Given the description of an element on the screen output the (x, y) to click on. 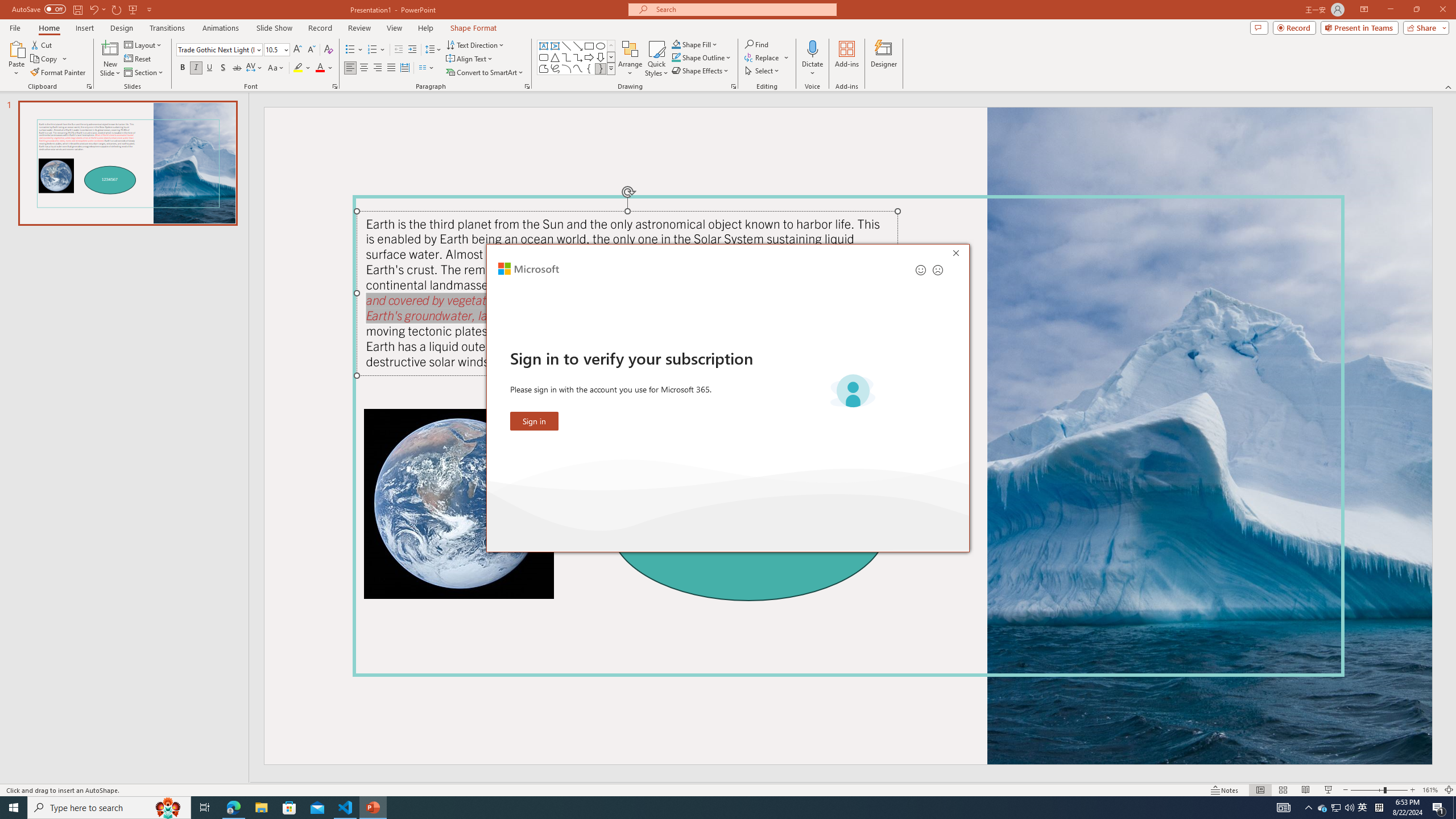
Send a smile for feedback (920, 269)
